Given the description of an element on the screen output the (x, y) to click on. 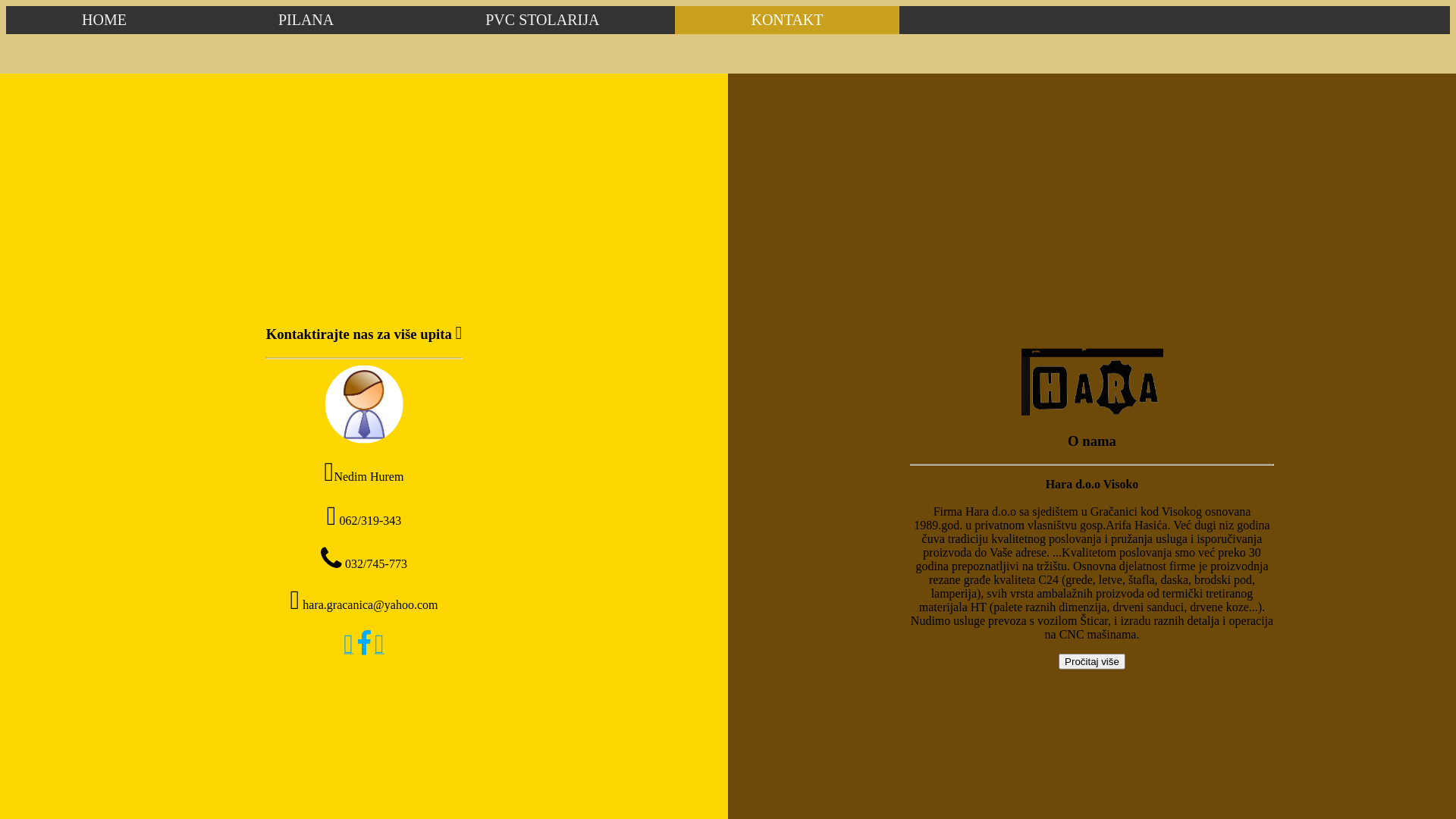
KONTAKT Element type: text (786, 20)
PVC STOLARIJA Element type: text (541, 20)
PILANA Element type: text (305, 20)
HOME Element type: text (104, 20)
